Given the description of an element on the screen output the (x, y) to click on. 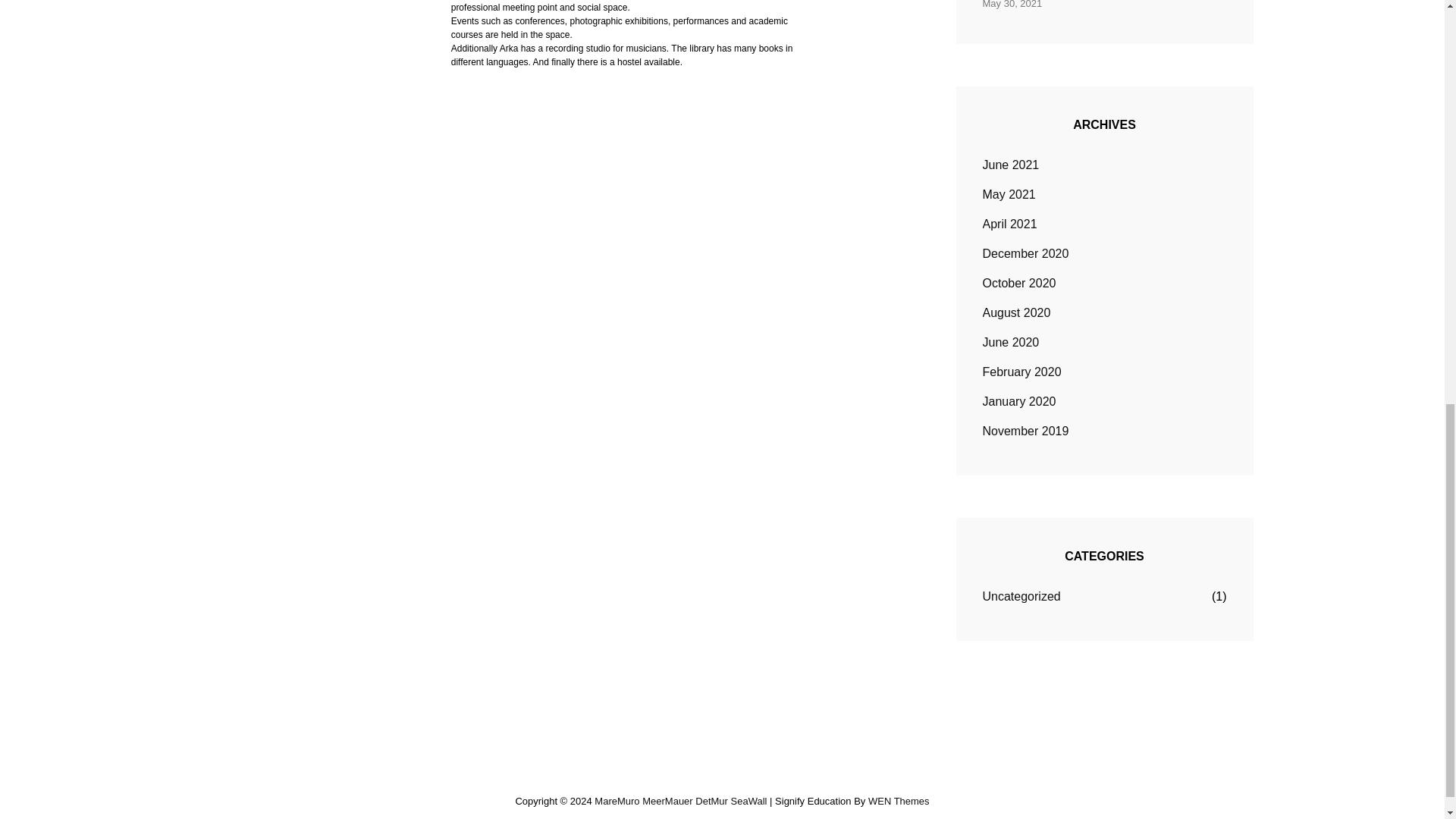
November 2019 (1025, 431)
June 2020 (1010, 342)
January 2020 (1019, 401)
WEN Themes (898, 800)
MareMuro MeerMauer DetMur SeaWall (680, 800)
Uncategorized (1021, 596)
October 2020 (1019, 283)
May 2021 (1008, 194)
June 2021 (1010, 165)
April 2021 (1009, 224)
